Given the description of an element on the screen output the (x, y) to click on. 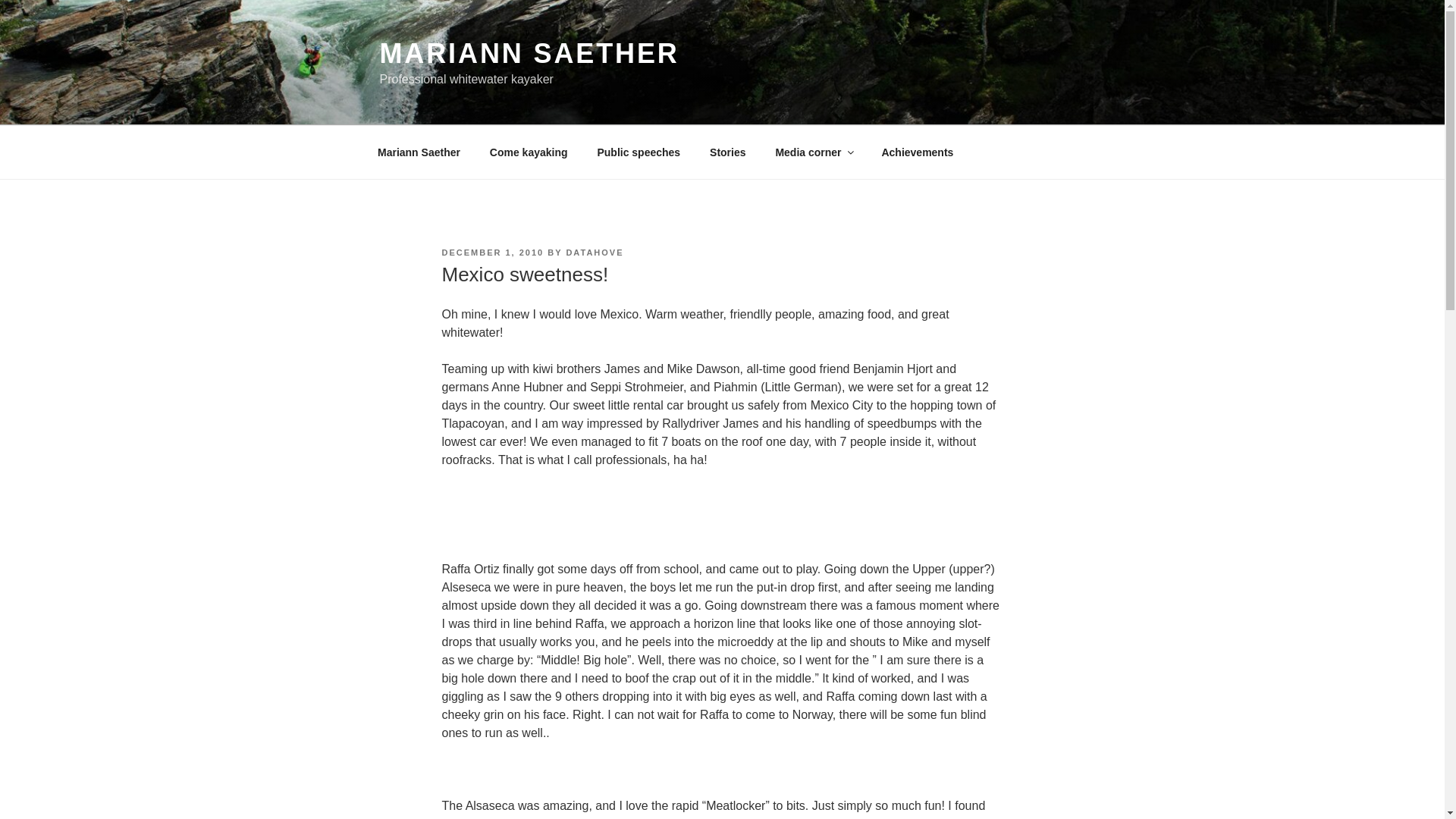
DECEMBER 1, 2010 (492, 252)
Media corner (812, 151)
Achievements (916, 151)
Public speeches (638, 151)
Whitewater trips and courses (528, 151)
Follow my adventures (727, 151)
Mariann Saether (418, 151)
Come kayaking (528, 151)
Achievements (916, 151)
MARIANN SAETHER (528, 52)
Public speaking (638, 151)
Media corner (812, 151)
DATAHOVE (594, 252)
Stories (727, 151)
